Given the description of an element on the screen output the (x, y) to click on. 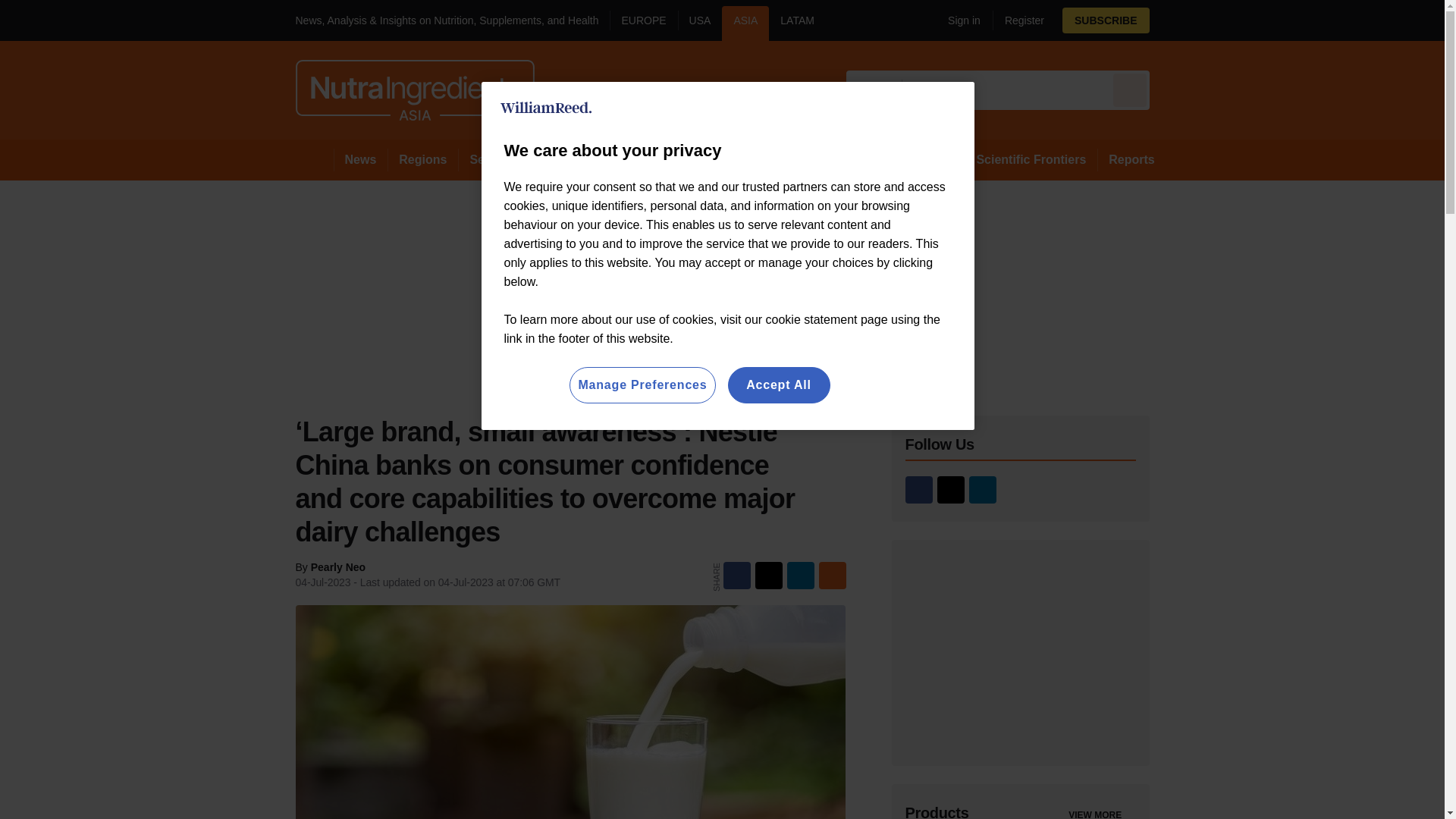
SUBSCRIBE (1148, 20)
Home (314, 159)
EUROPE (643, 22)
Register (1017, 20)
Send (1129, 90)
Sign in (957, 20)
News (360, 159)
Home (313, 159)
LATAM (796, 22)
3rd party ad content (1020, 652)
SUBSCRIBE (1105, 20)
ASIA (745, 22)
My account (1042, 20)
Sign out (961, 20)
